Given the description of an element on the screen output the (x, y) to click on. 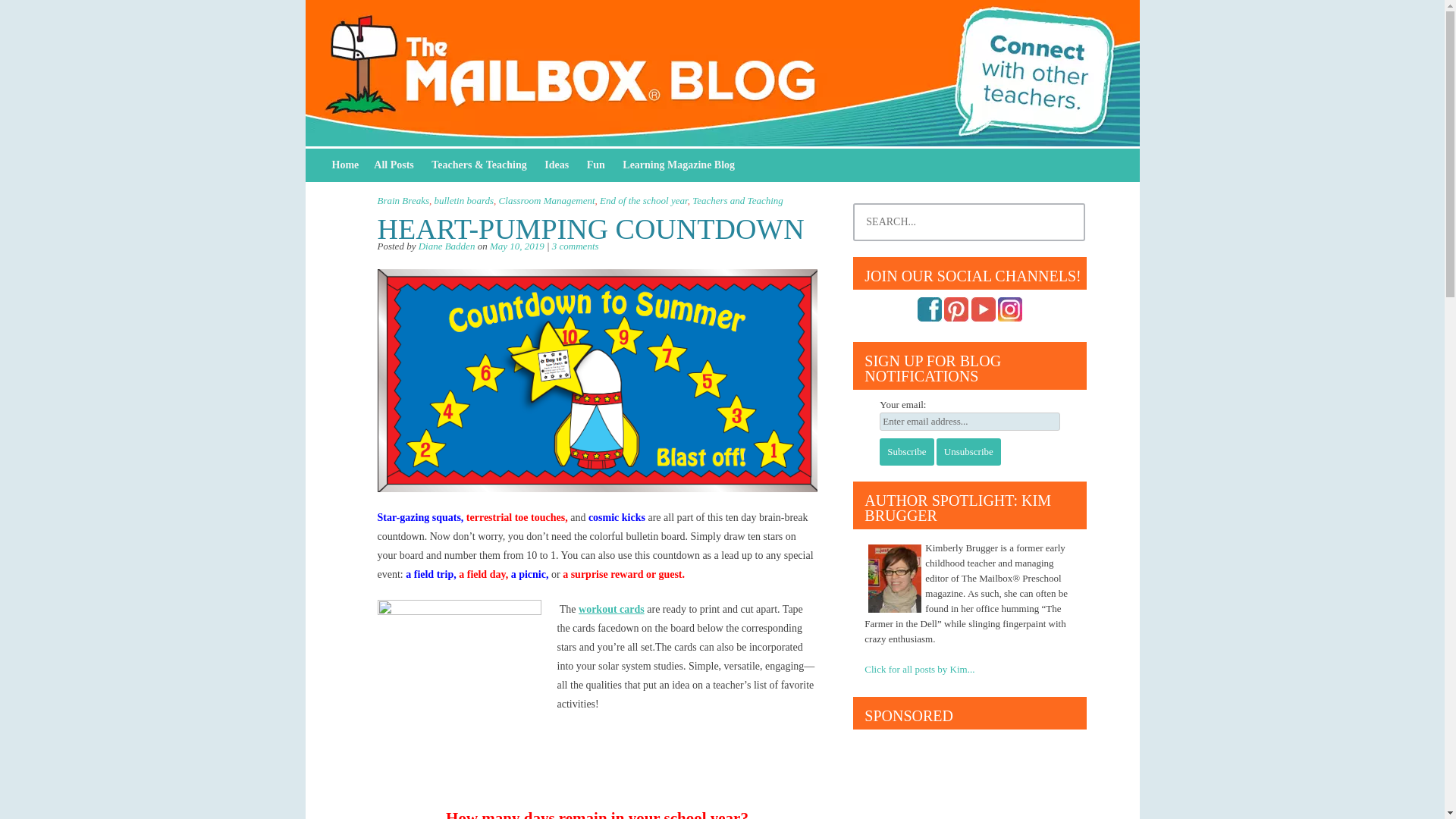
Classroom Management (547, 200)
Learning Magazine Blog (678, 164)
Brain Breaks (403, 200)
All Posts (394, 164)
Skip to content (346, 165)
Unsubscribe (968, 452)
May 10, 2019 (516, 245)
workout cards (611, 609)
bulletin boards (463, 200)
End of the school year (643, 200)
Ideas (556, 164)
Fun (595, 164)
Search (21, 13)
Teachers and Teaching (738, 200)
Enter email address... (969, 421)
